Given the description of an element on the screen output the (x, y) to click on. 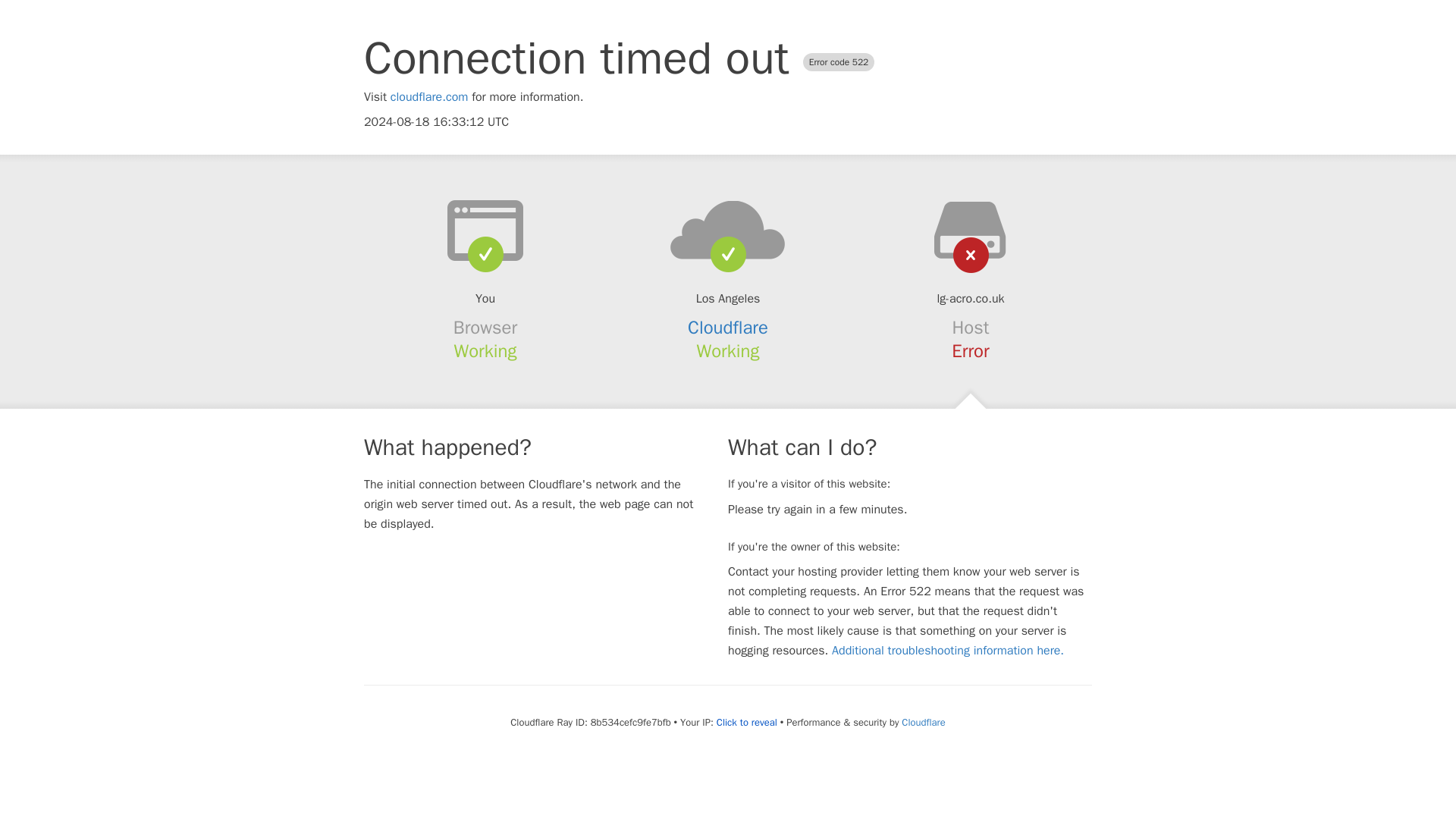
Cloudflare (727, 327)
cloudflare.com (429, 96)
Additional troubleshooting information here. (947, 650)
Click to reveal (746, 722)
Cloudflare (922, 721)
